Given the description of an element on the screen output the (x, y) to click on. 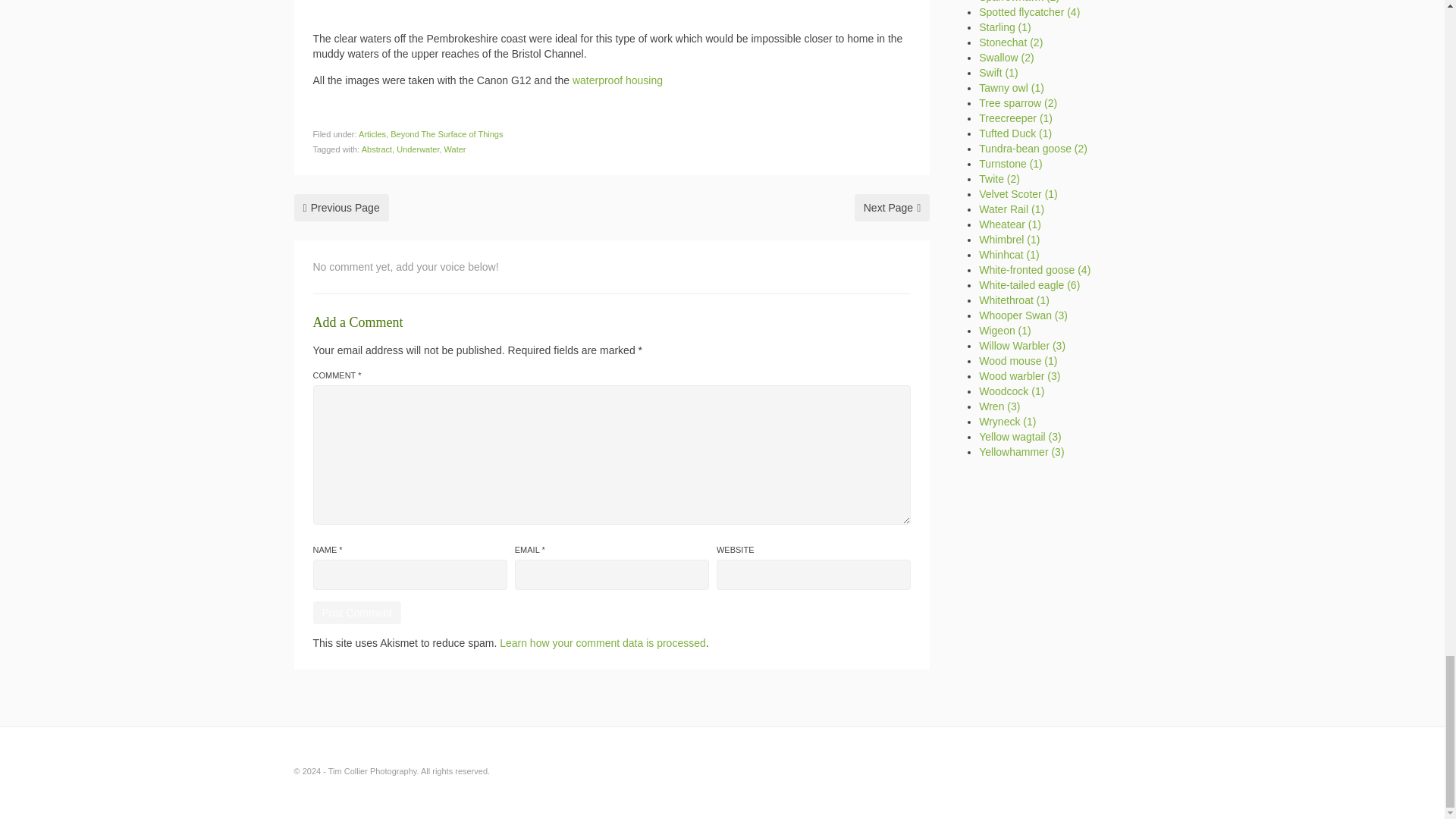
Previous Page (341, 207)
Underwater (417, 148)
Next Page (892, 207)
Echoes of Conrad Lorenz (892, 207)
Learn how your comment data is processed (602, 643)
Articles (371, 133)
Abstract (376, 148)
Post Comment (357, 612)
waterproof housing (617, 80)
Water (454, 148)
Red Squirrels at Formby Point (341, 207)
Beyond The Surface of Things (446, 133)
